Given the description of an element on the screen output the (x, y) to click on. 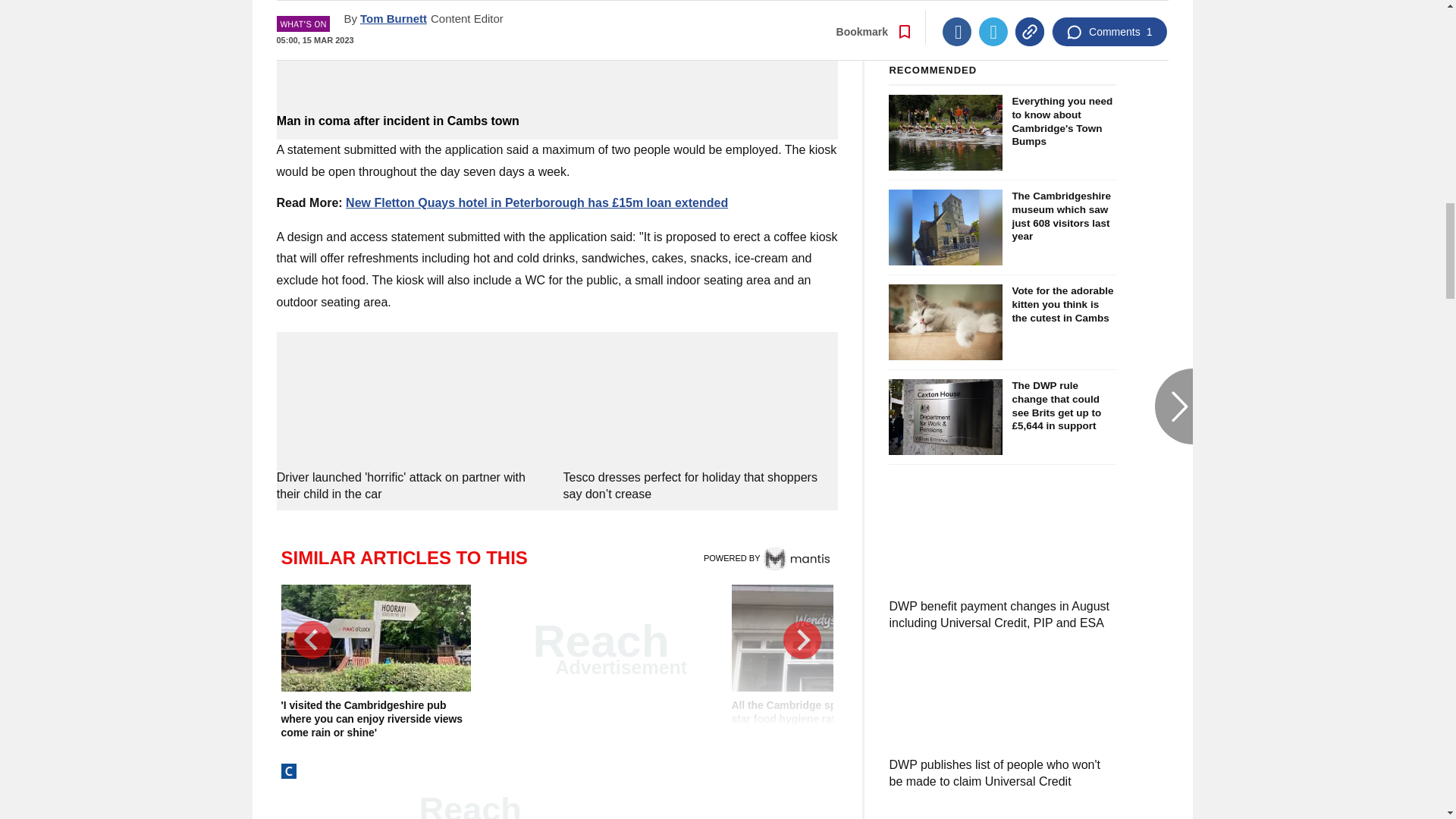
Man in coma after incident in Cambs town (557, 121)
